Given the description of an element on the screen output the (x, y) to click on. 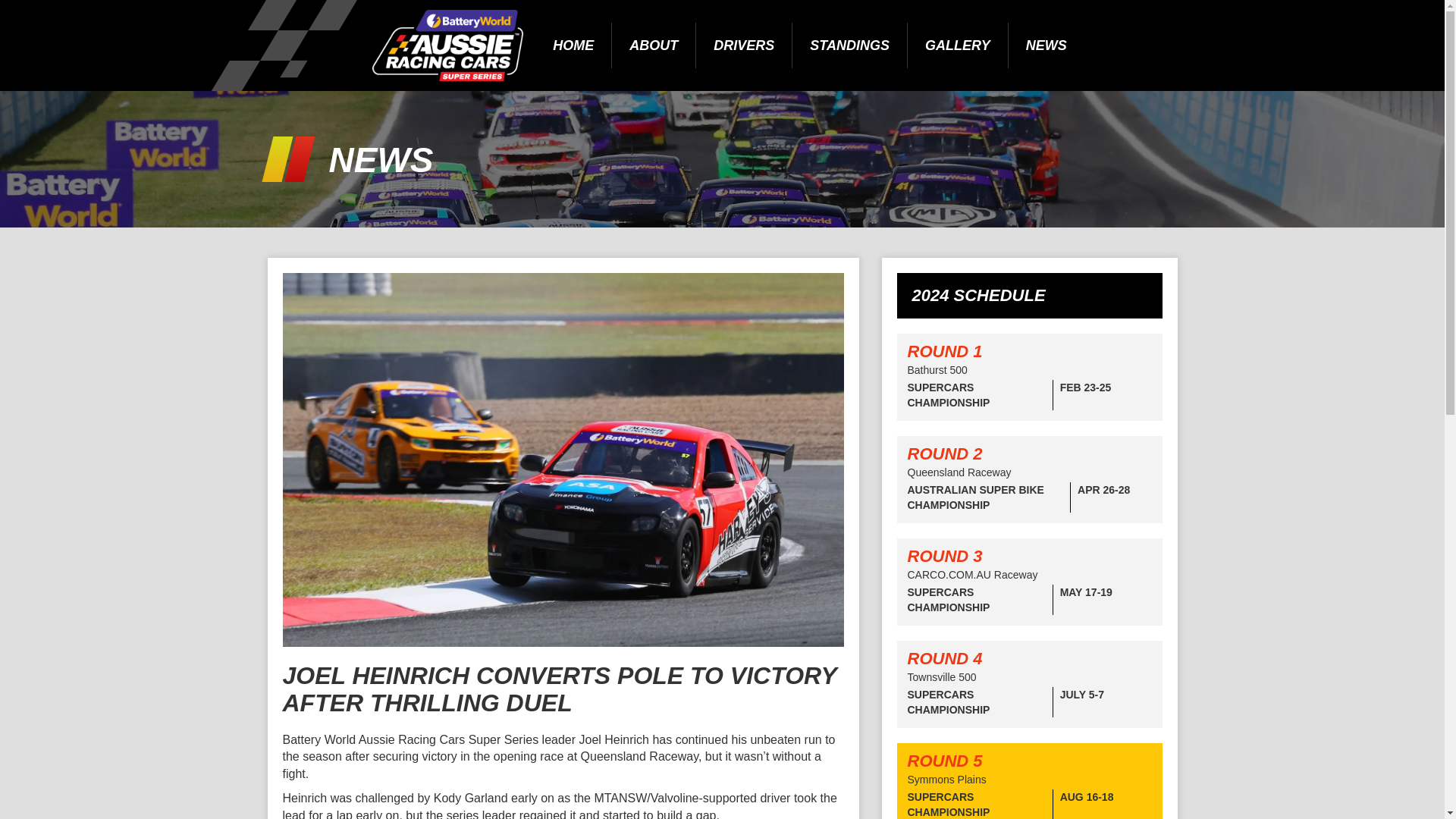
DRIVERS (743, 44)
NEWS (1046, 44)
ABOUT (653, 44)
HOME (573, 44)
STANDINGS (849, 44)
GALLERY (958, 44)
